Given the description of an element on the screen output the (x, y) to click on. 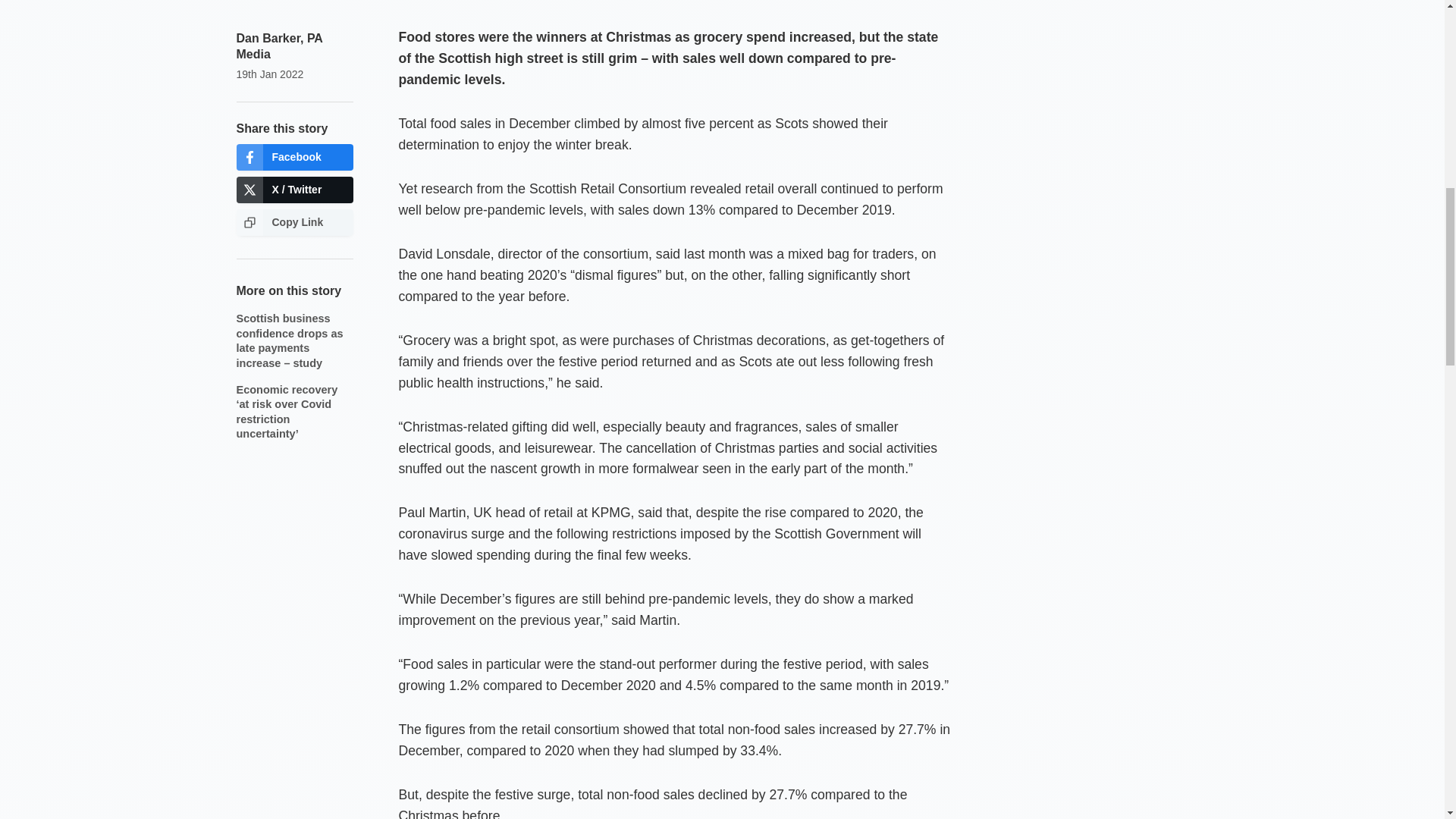
Facebook (294, 157)
